Given the description of an element on the screen output the (x, y) to click on. 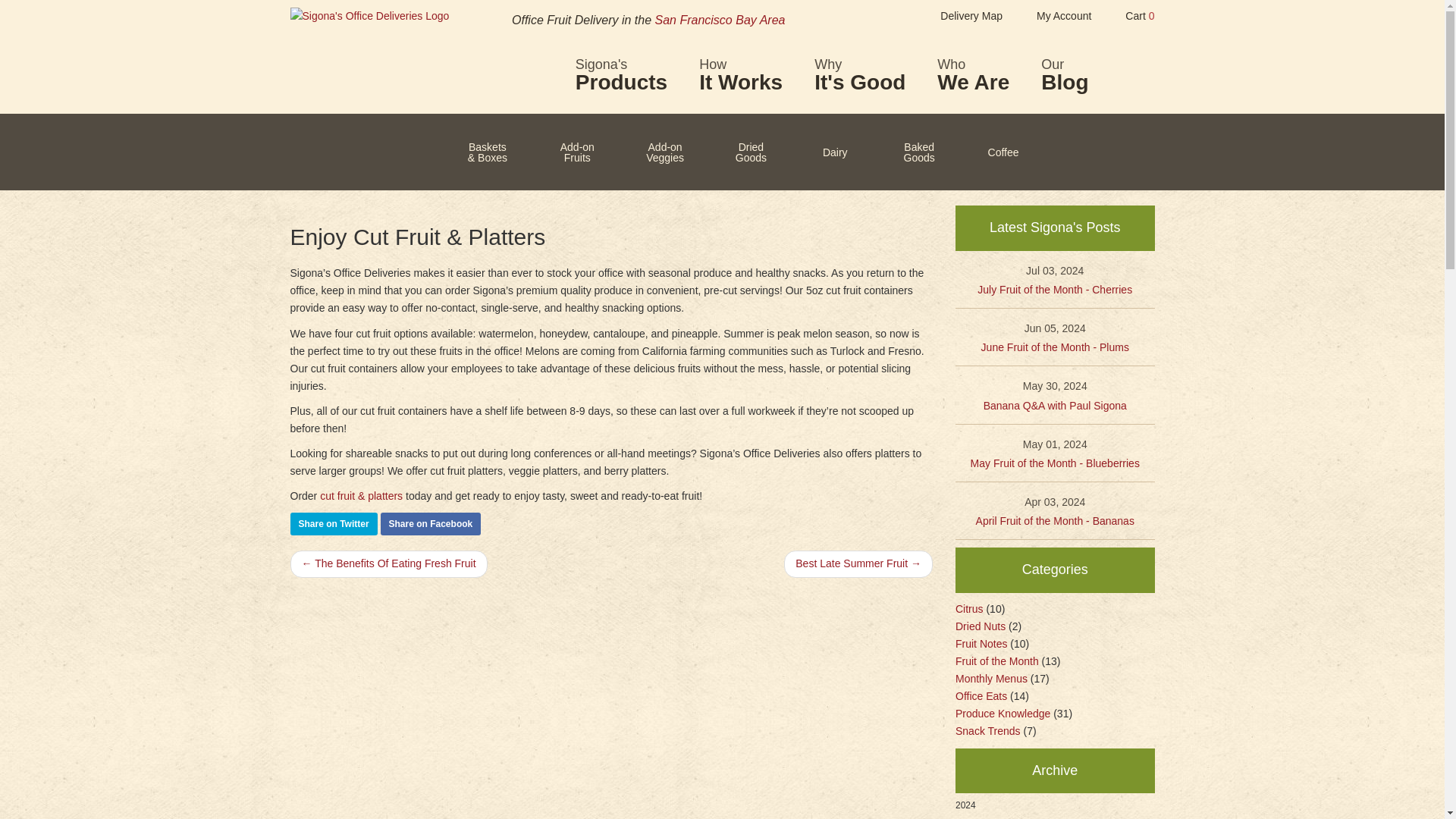
Delivery Map (960, 18)
Add-on Fruits (556, 151)
My Account (1064, 75)
Dairy (859, 75)
Cart 0 (620, 75)
Add-on Veggies (1051, 18)
